Given the description of an element on the screen output the (x, y) to click on. 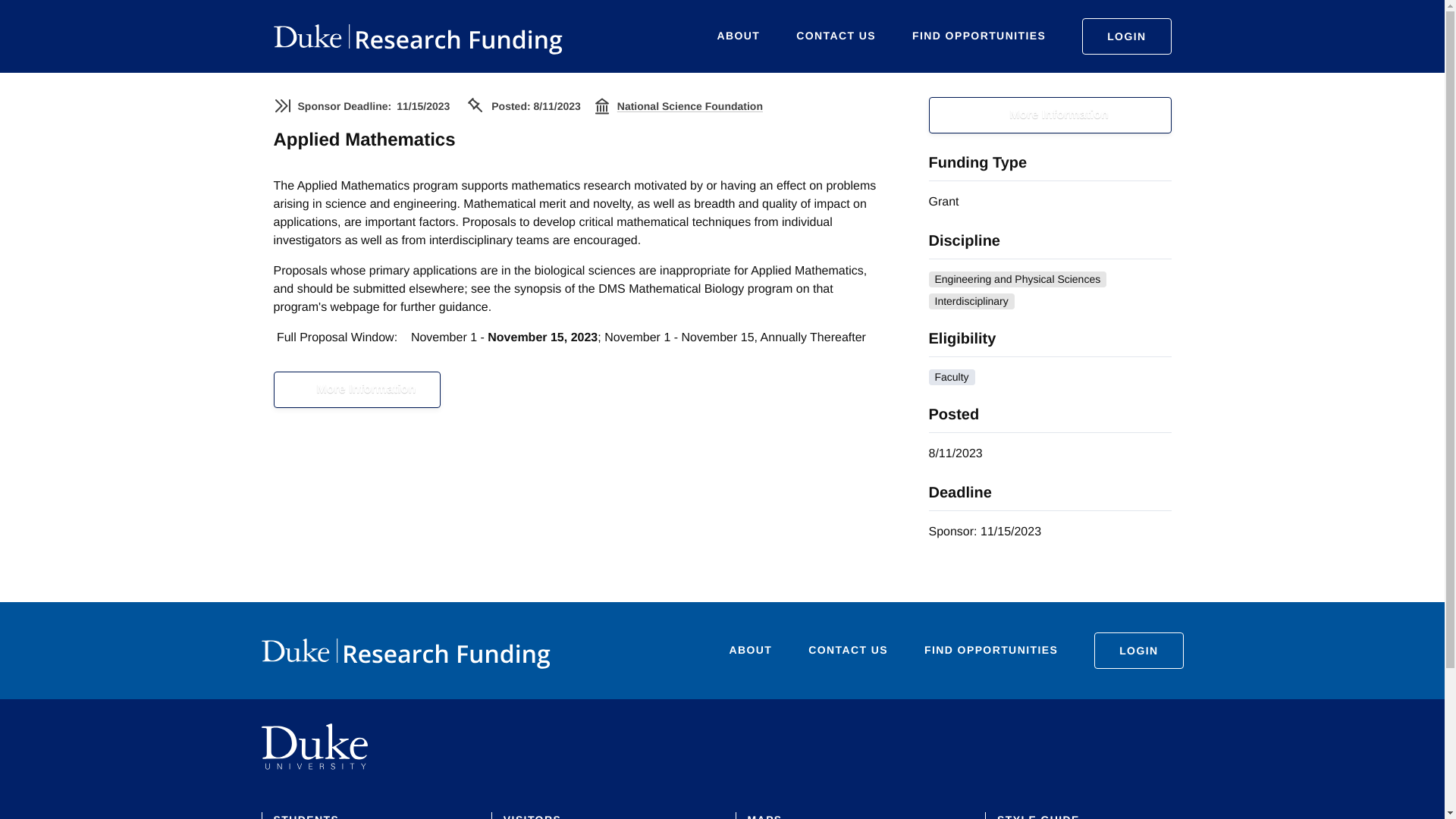
Faculty (951, 376)
FIND OPPORTUNITIES (991, 650)
More Information (1049, 115)
STYLE GUIDE (1038, 816)
More Information (357, 389)
CONTACT US (836, 35)
ABOUT (751, 650)
LOGIN (1125, 36)
MAPS (765, 816)
Interdisciplinary (970, 301)
CONTACT US (848, 650)
Grant (943, 201)
Engineering and Physical Sciences (1017, 279)
STUDENTS (306, 816)
